Given the description of an element on the screen output the (x, y) to click on. 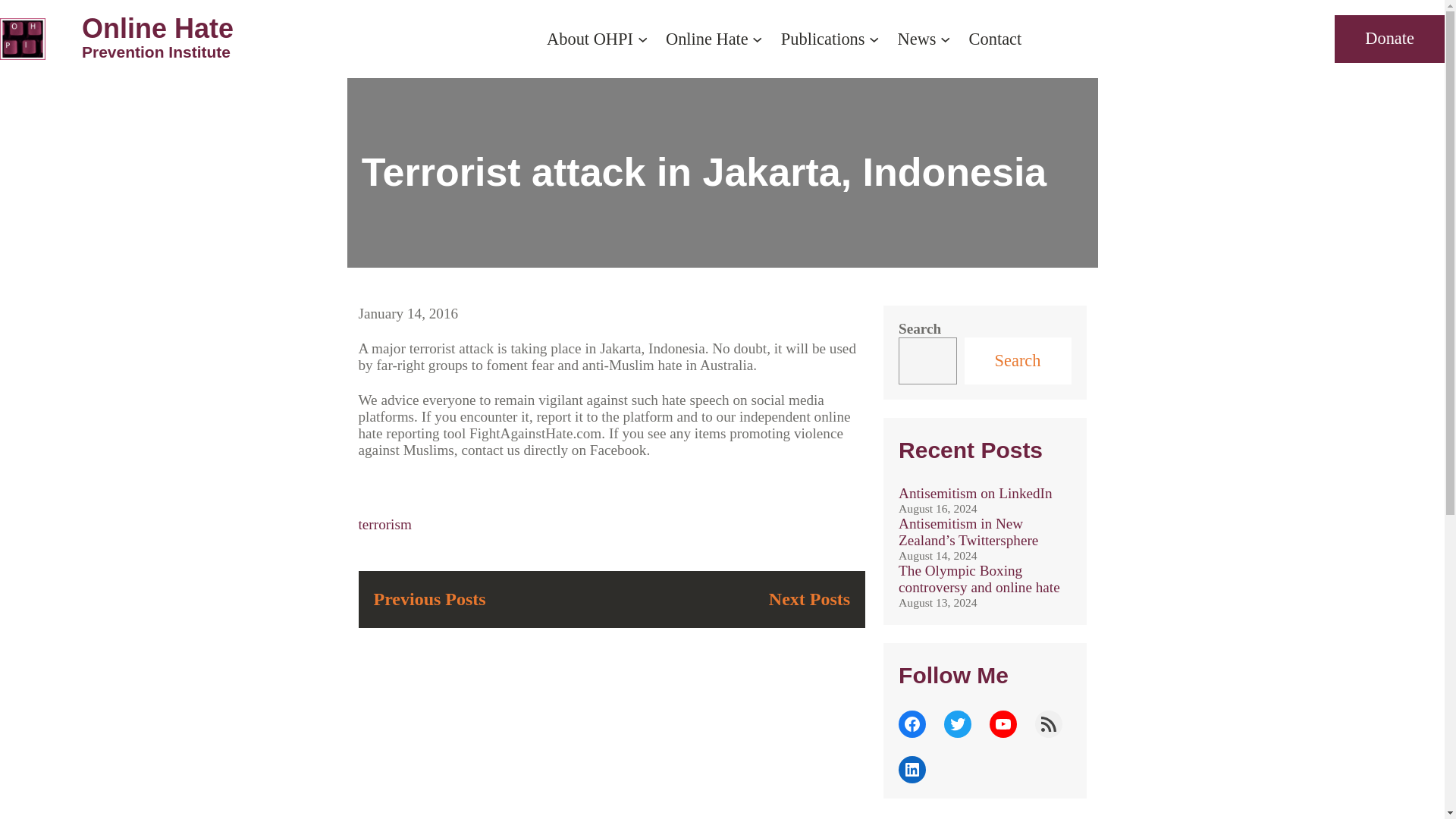
Publications (822, 38)
Online Hate (706, 38)
News (917, 38)
About OHPI (156, 43)
